Given the description of an element on the screen output the (x, y) to click on. 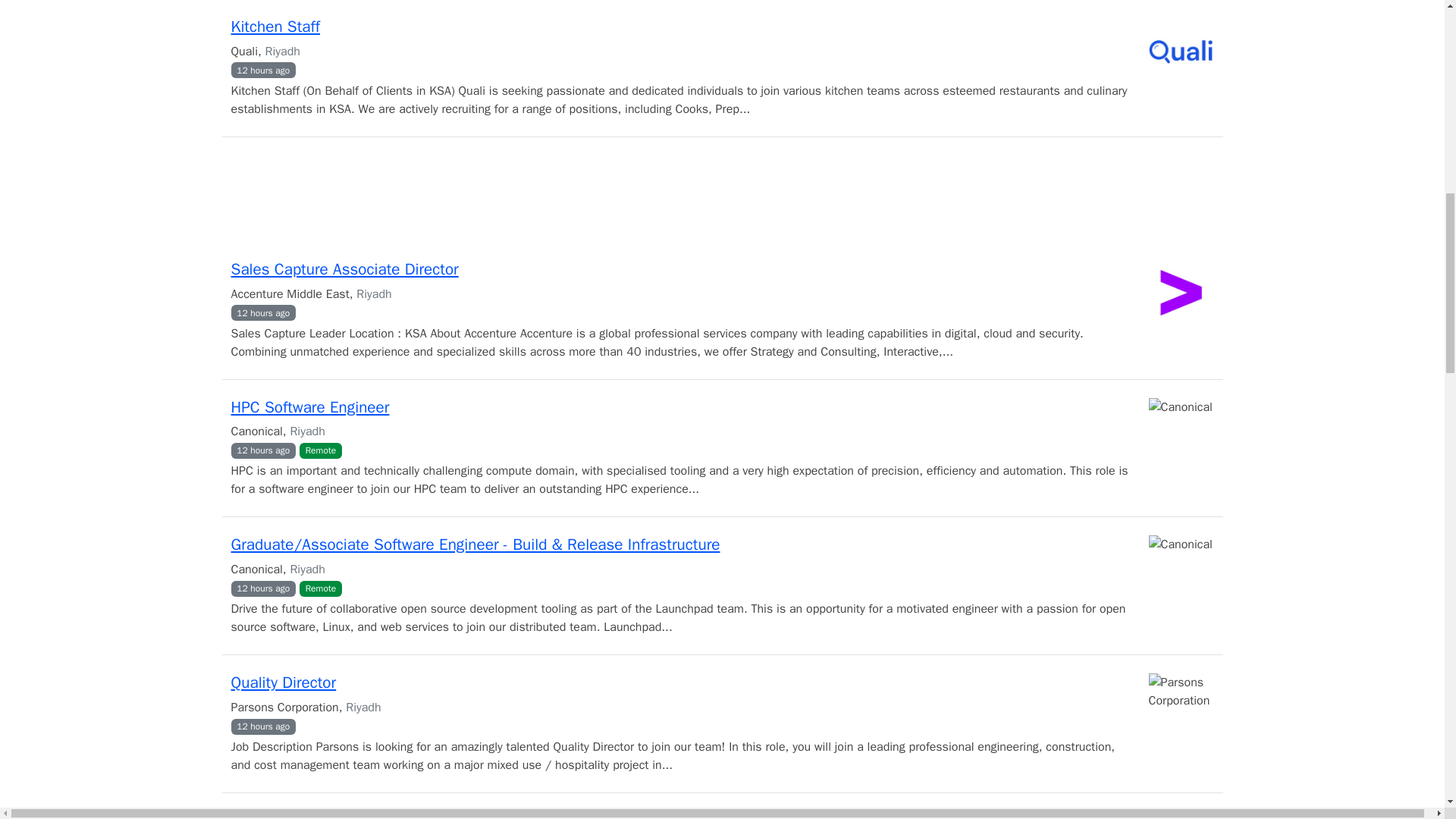
Kitchen Staff (275, 26)
Sales Capture Associate Director (344, 269)
HPC Software Engineer (309, 406)
Quality Director (283, 682)
